Given the description of an element on the screen output the (x, y) to click on. 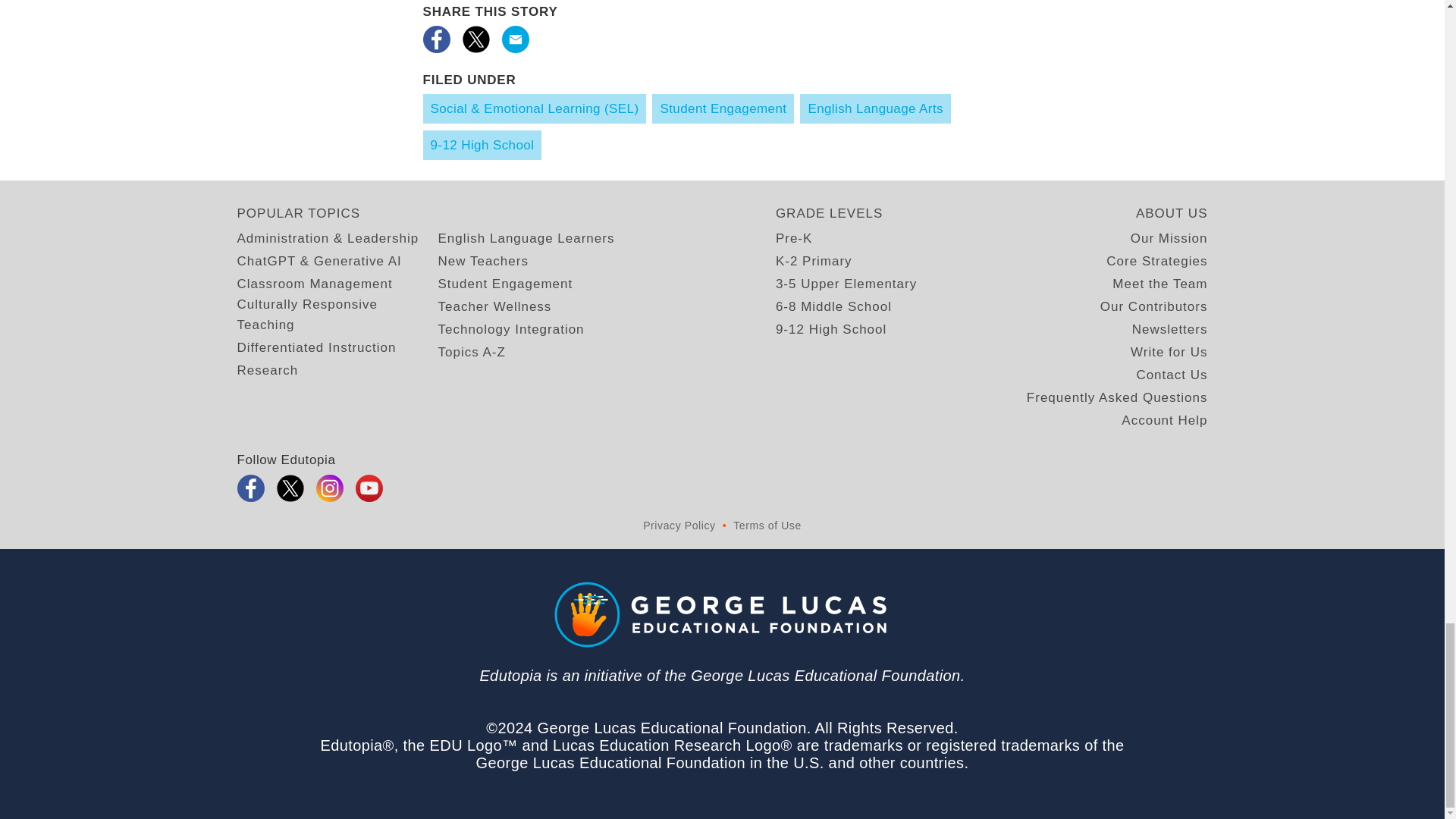
Topics A-Z (471, 352)
English Language Arts (874, 108)
Student Engagement (722, 108)
Differentiated Instruction (315, 347)
Research (266, 370)
New Teachers (483, 260)
Classroom Management (313, 283)
Culturally Responsive Teaching (336, 314)
Student Engagement (505, 283)
English Language Learners (526, 238)
